Given the description of an element on the screen output the (x, y) to click on. 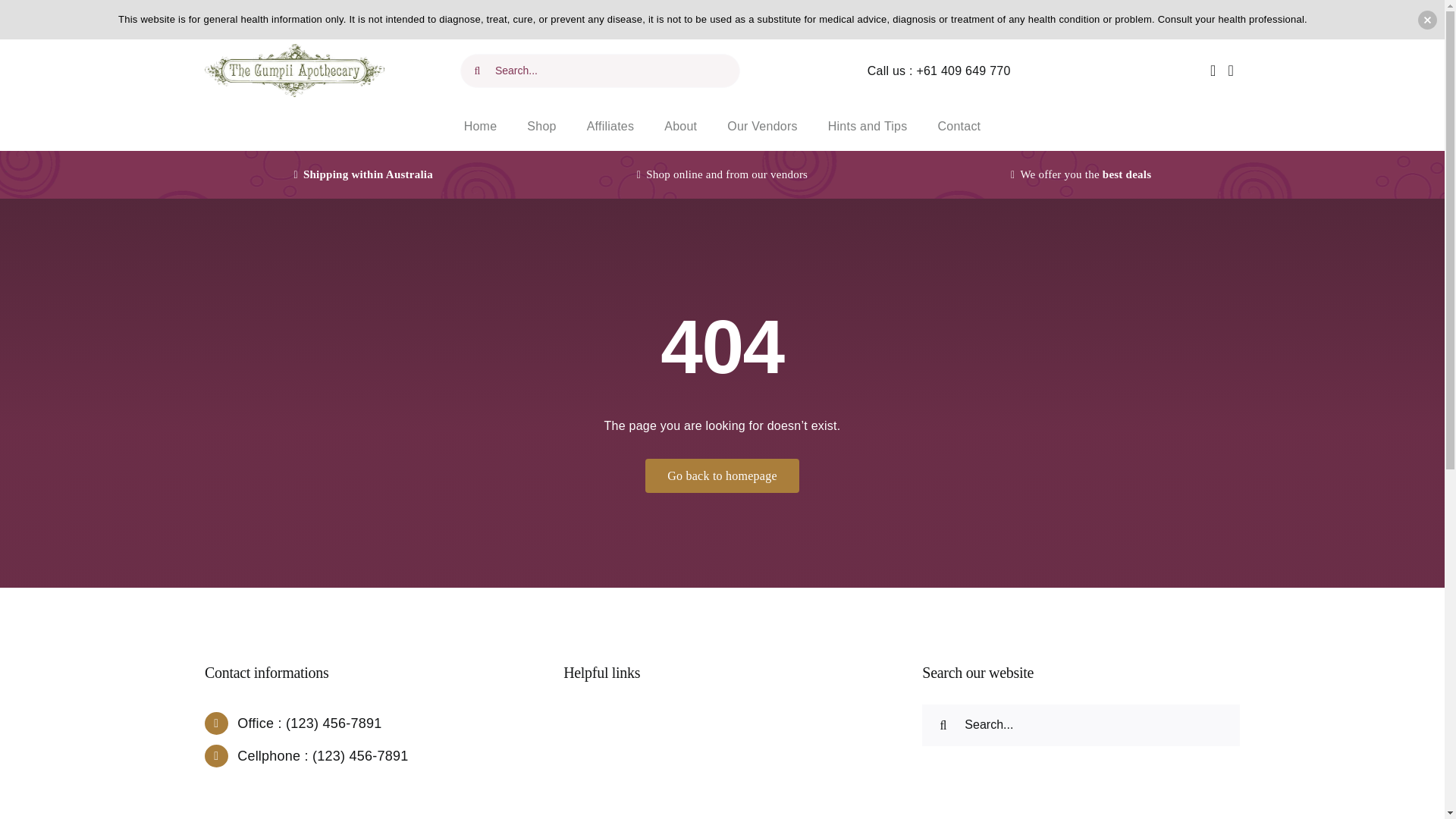
Contact (958, 126)
Home (480, 126)
Go back to homepage (722, 475)
Shop (541, 126)
Hints and Tips (867, 126)
About (680, 126)
Our Vendors (761, 126)
Affiliates (610, 126)
Log In (1155, 252)
